Given the description of an element on the screen output the (x, y) to click on. 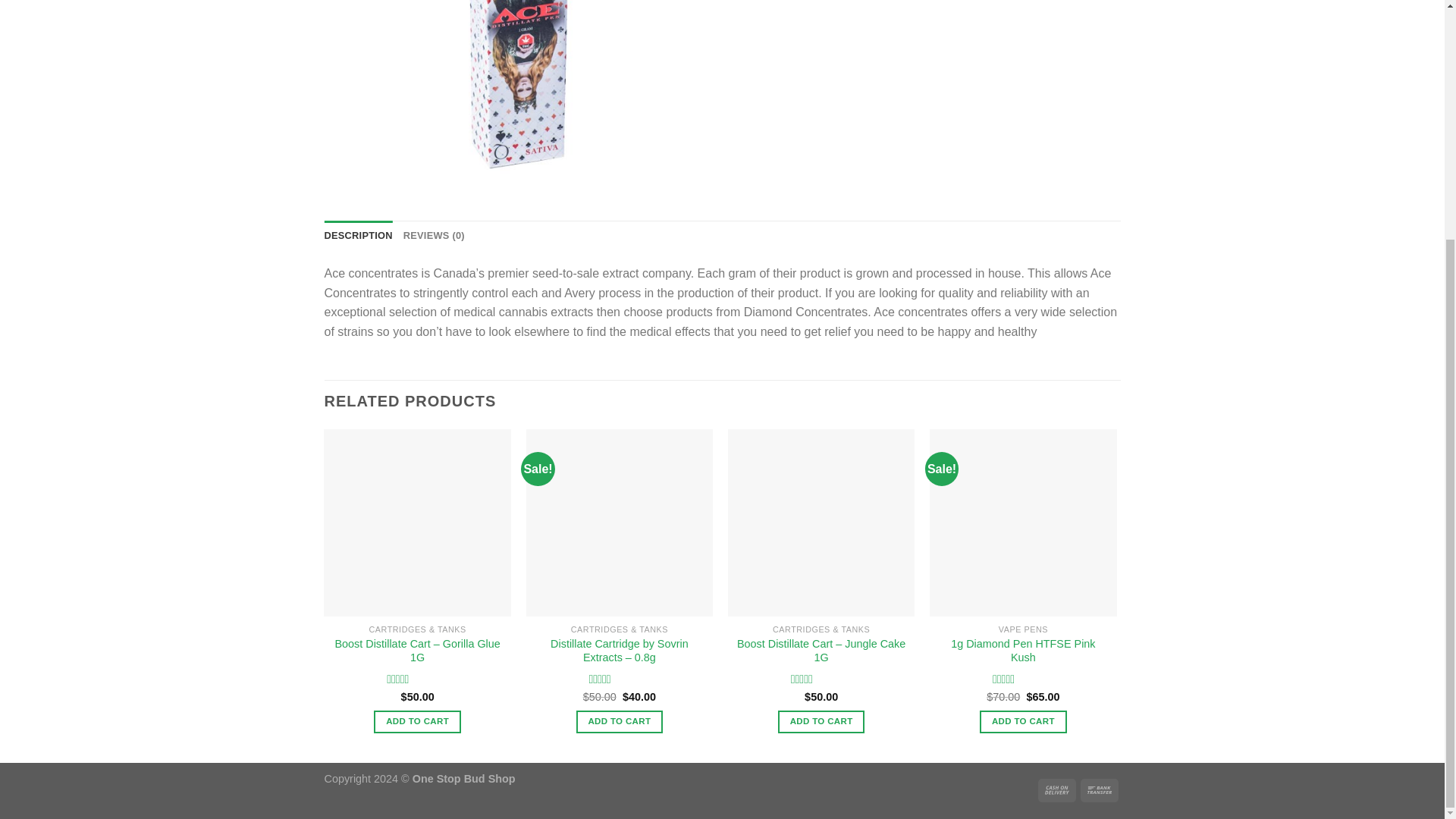
Ace Disposable Pen Dream Queen 1 (517, 95)
